Given the description of an element on the screen output the (x, y) to click on. 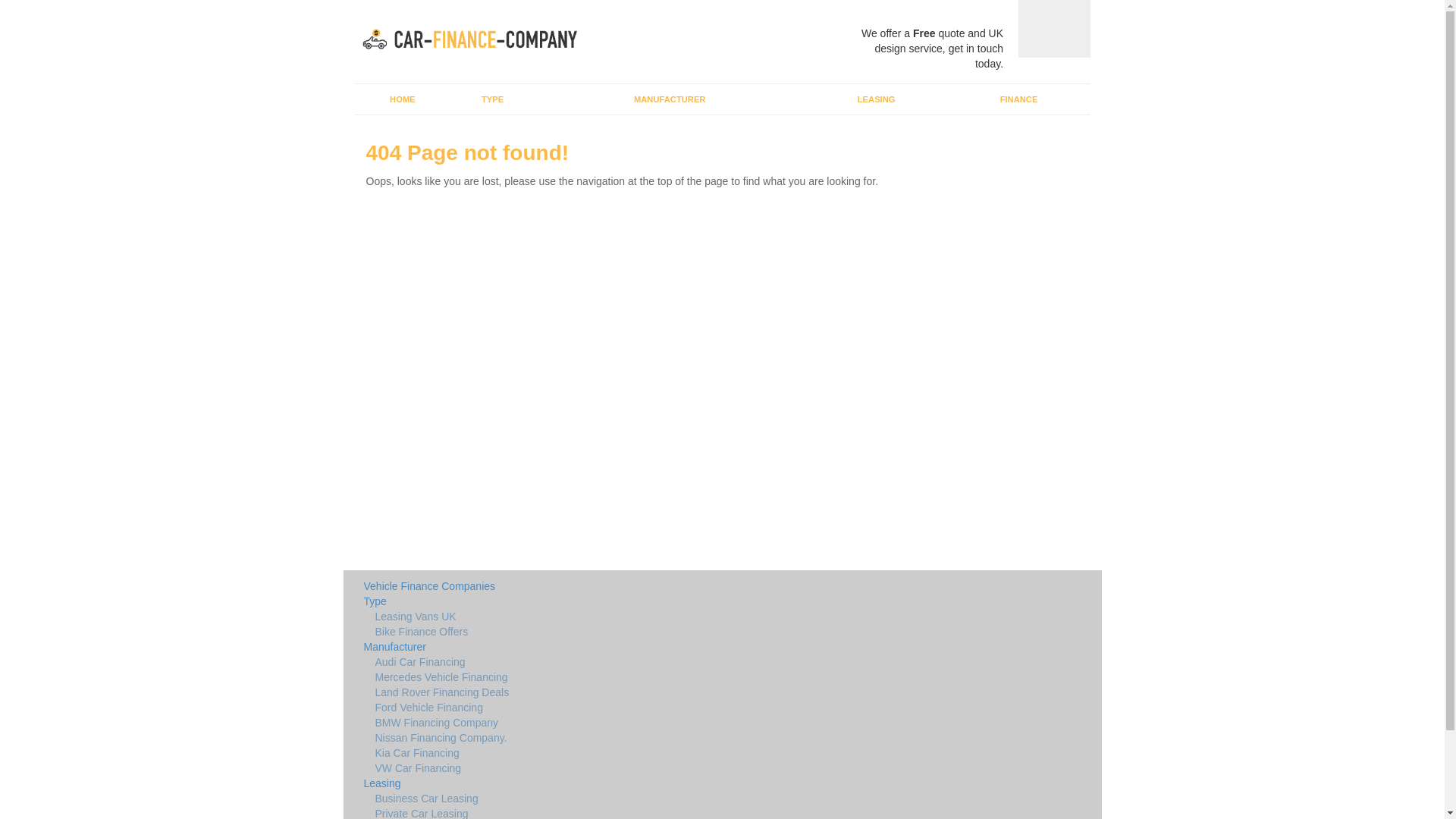
Nissan Financing Company. (599, 738)
Type (599, 601)
HOME (403, 99)
Land Rover Financing Deals (599, 693)
Kia Car Financing (599, 753)
BMW Financing Company (599, 723)
LEASING (876, 99)
Leasing Vans UK (599, 616)
Manufacturer (599, 647)
MANUFACTURER (669, 99)
Ford Vehicle Financing (599, 708)
Audi Car Financing (599, 662)
Mercedes Vehicle Financing (599, 677)
VW Car Financing (599, 768)
TYPE (491, 99)
